Given the description of an element on the screen output the (x, y) to click on. 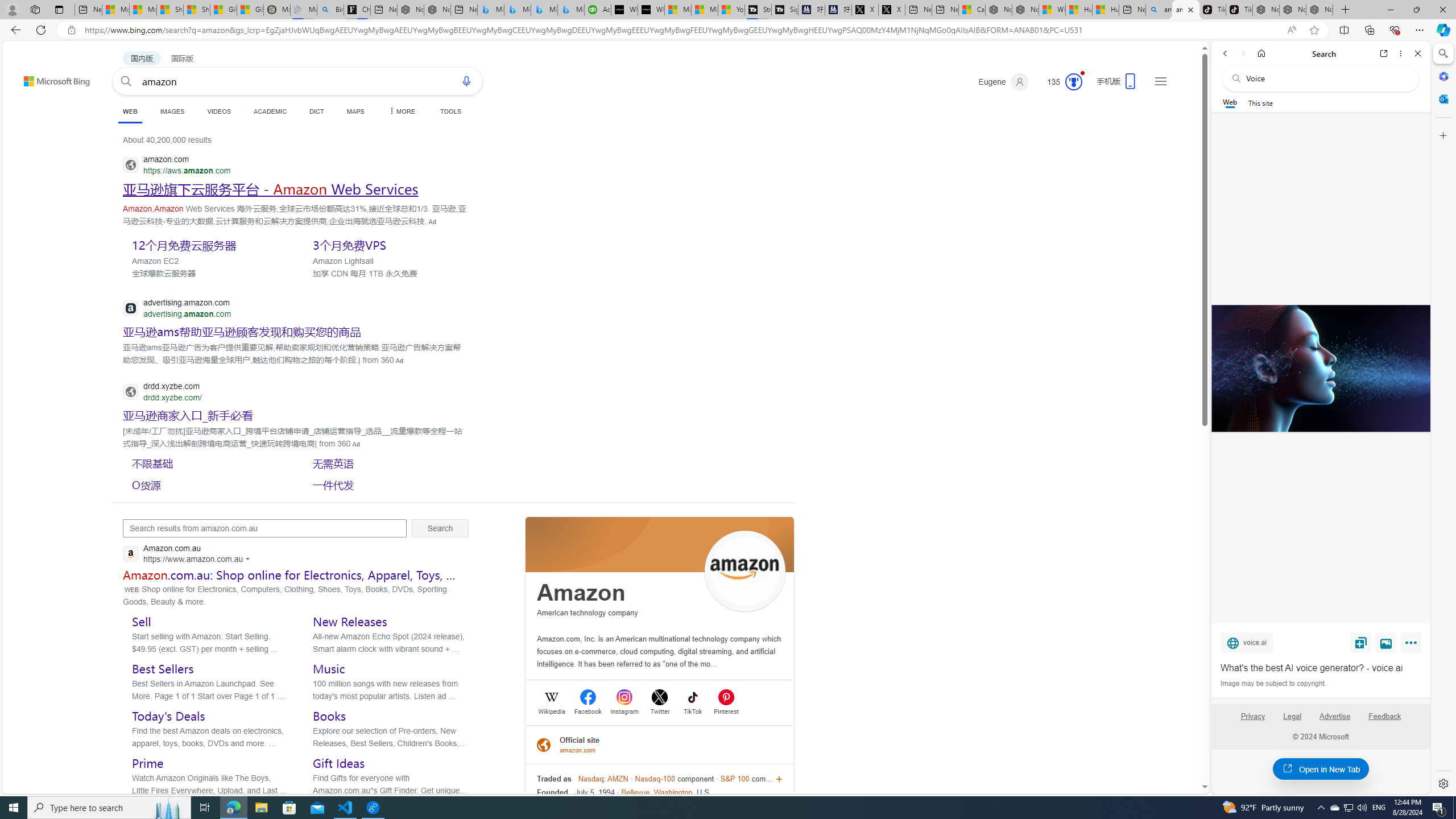
Music (329, 668)
SERP,5568 (207, 463)
Streaming Coverage | T3 (757, 9)
Gift Ideas (339, 762)
American technology company (587, 612)
Shanghai, China weather forecast | Microsoft Weather (197, 9)
Class: medal-circled (1073, 81)
Bellevue, Washington (657, 791)
SERP,5569 (388, 463)
Founded (552, 791)
